Given the description of an element on the screen output the (x, y) to click on. 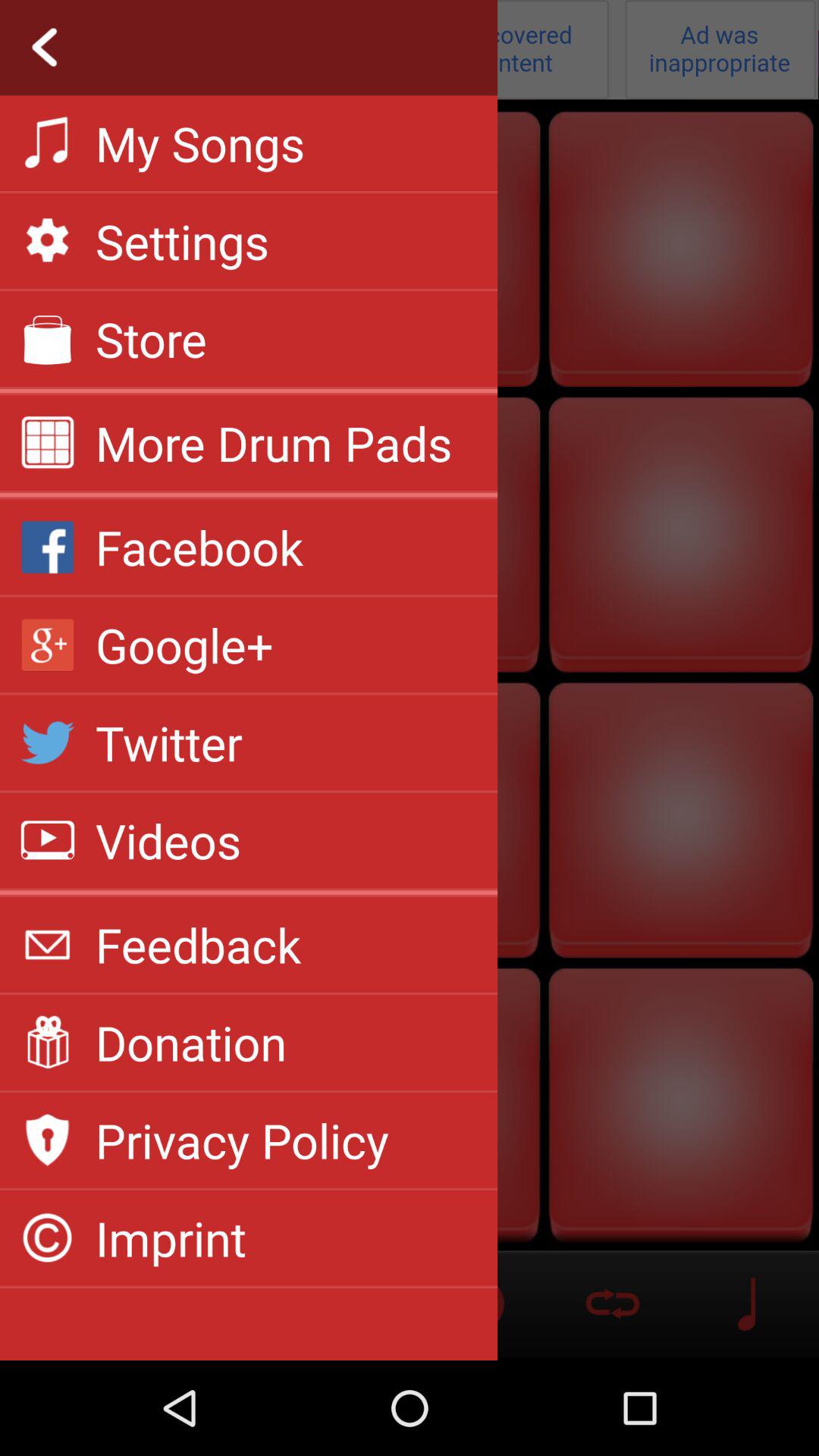
press the app above imprint (242, 1140)
